Given the description of an element on the screen output the (x, y) to click on. 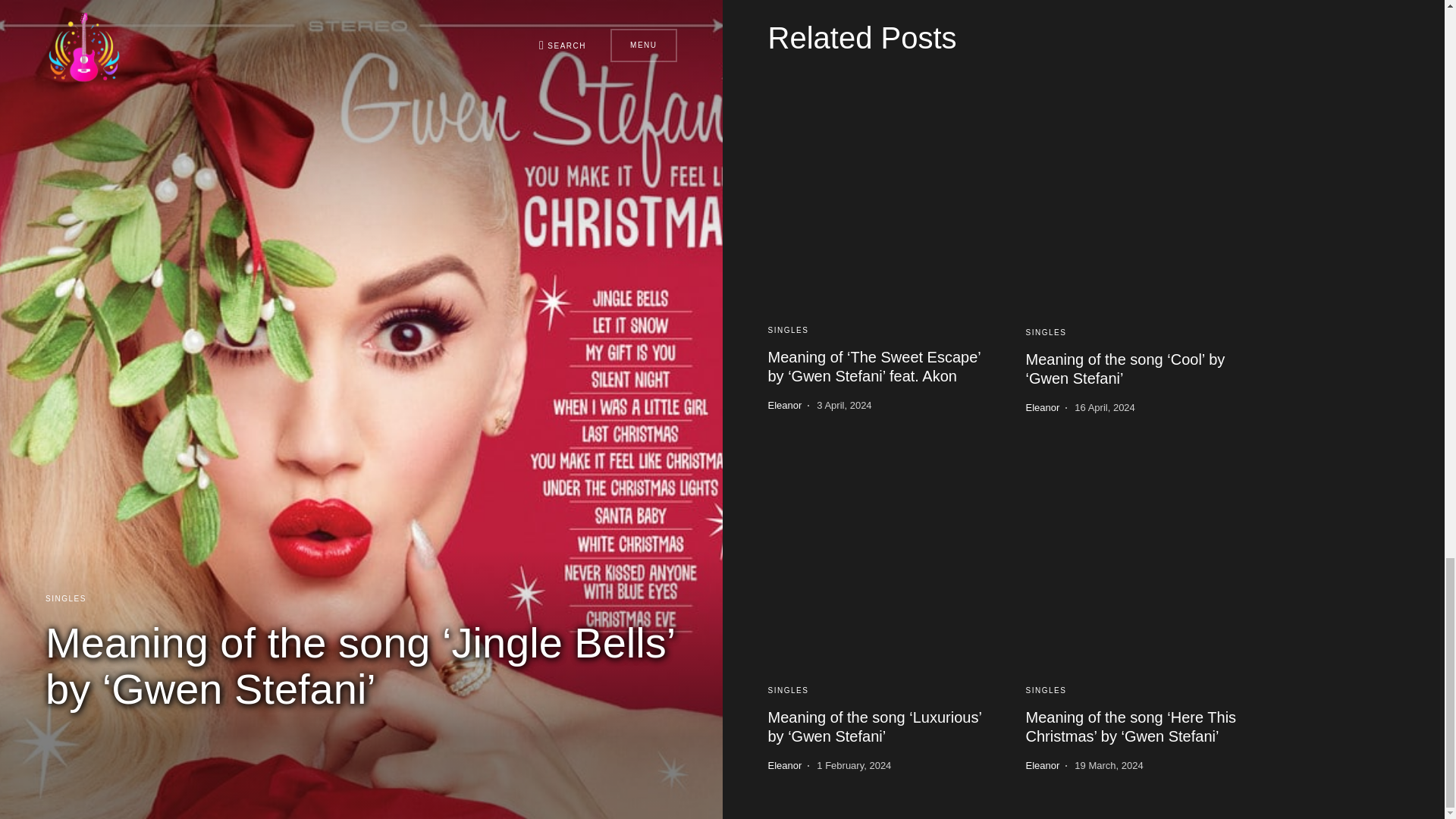
View all posts by Eleanor (784, 765)
View all posts by Eleanor (1042, 765)
View all posts by Eleanor (784, 405)
View all posts by Eleanor (1042, 407)
